Given the description of an element on the screen output the (x, y) to click on. 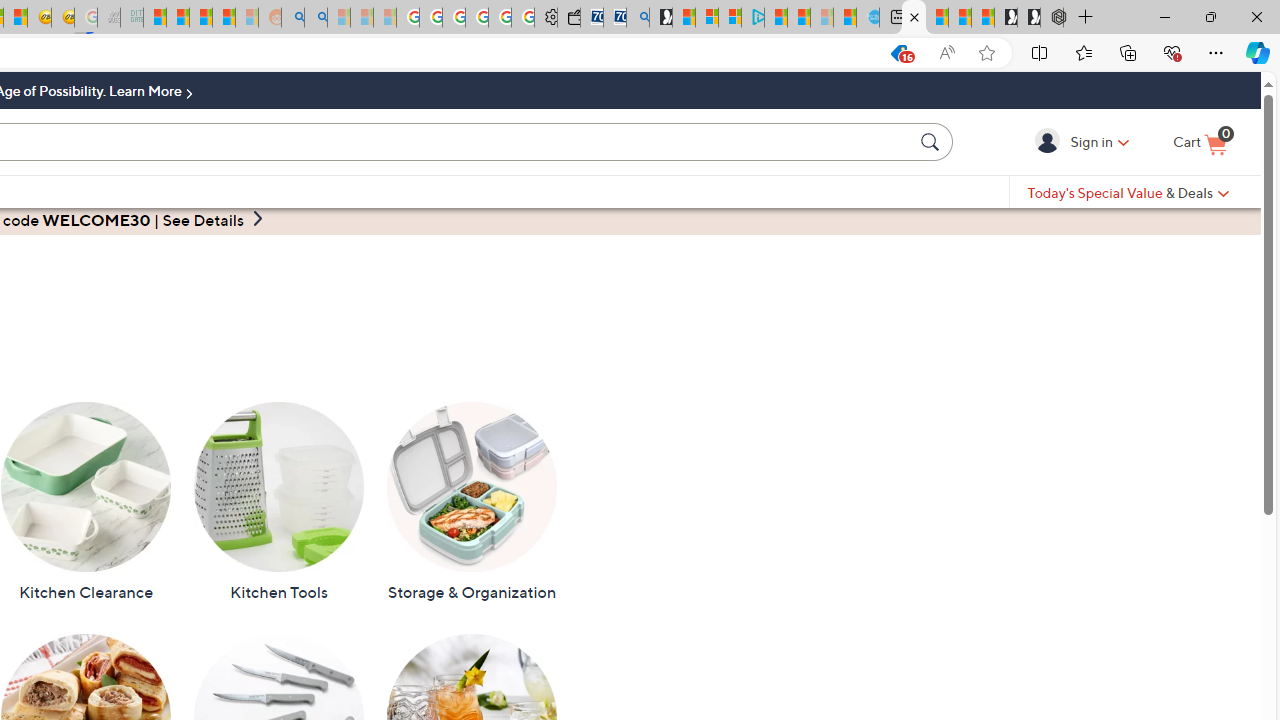
Cart is Empty  (1199, 143)
Kitchen Tools (278, 502)
